Given the description of an element on the screen output the (x, y) to click on. 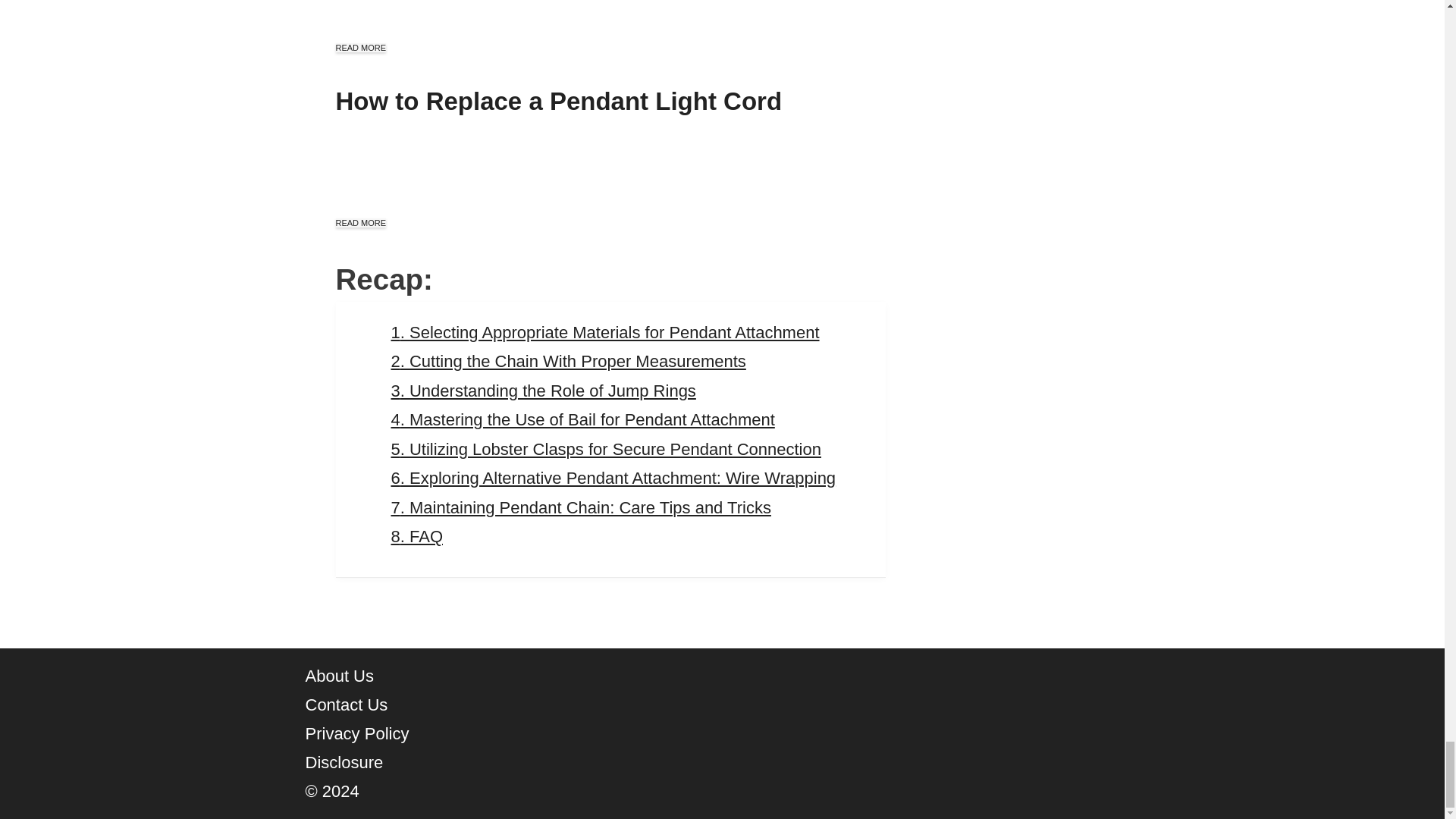
Exploring Alternative Pendant Attachment: Wire Wrapping (613, 477)
Cutting the Chain With Proper Measurements (568, 361)
Mastering the Use of Bail for Pendant Attachment (582, 419)
How to Replace a Pendant Light Cord (557, 100)
Utilizing Lobster Clasps for Secure Pendant Connection (606, 448)
READ MORE (359, 47)
FAQ (417, 536)
Selecting Appropriate Materials for Pendant Attachment (605, 332)
Maintaining Pendant Chain: Care Tips and Tricks (581, 506)
Understanding the Role of Jump Rings (543, 390)
READ MORE (359, 222)
How to Replace a Pendant Light Cord (557, 100)
